Given the description of an element on the screen output the (x, y) to click on. 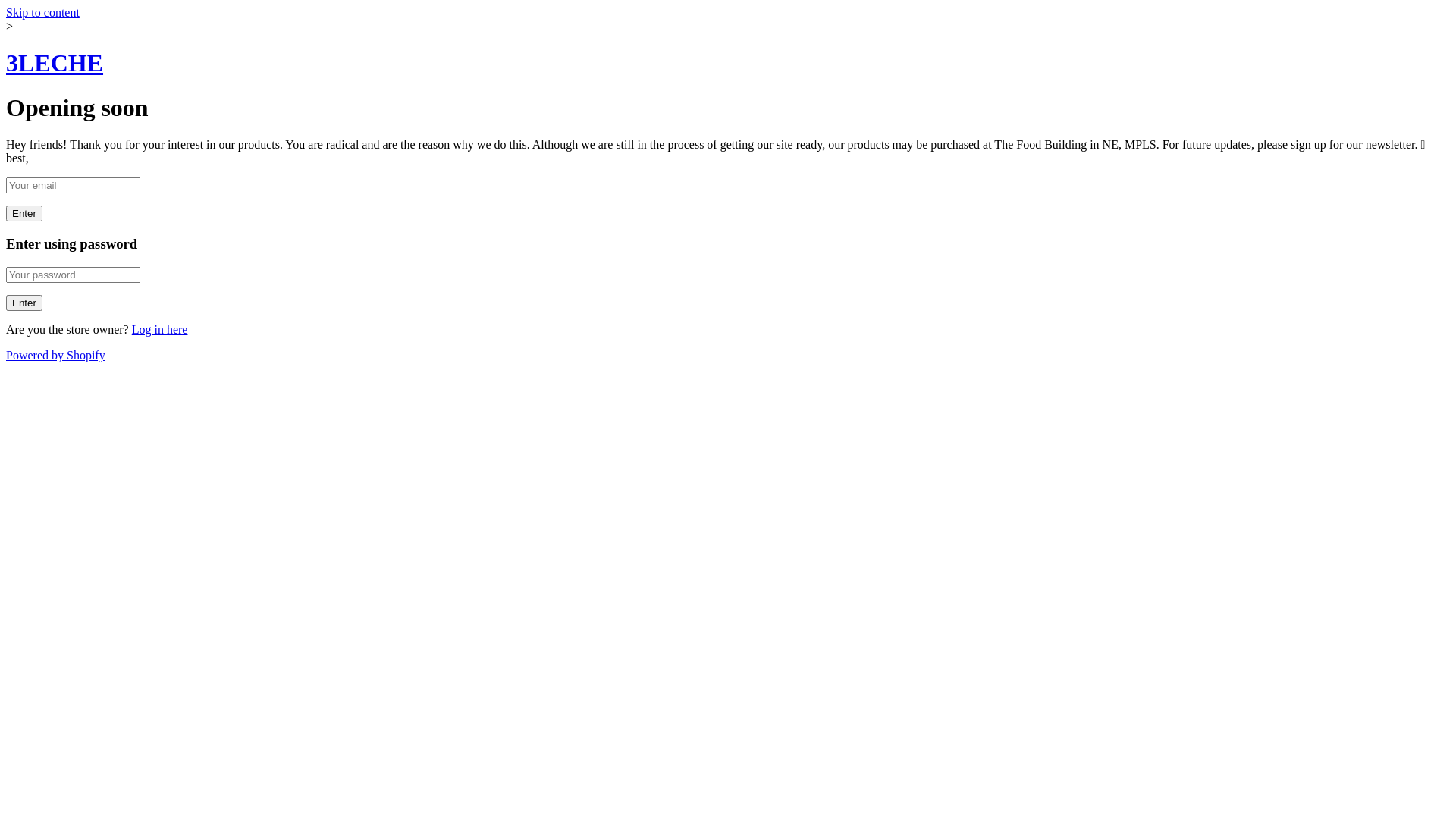
Enter Element type: text (24, 213)
Enter Element type: text (24, 302)
Powered by Shopify Element type: text (55, 354)
Skip to content Element type: text (42, 12)
Log in here Element type: text (159, 329)
3LECHE Element type: text (54, 62)
